Given the description of an element on the screen output the (x, y) to click on. 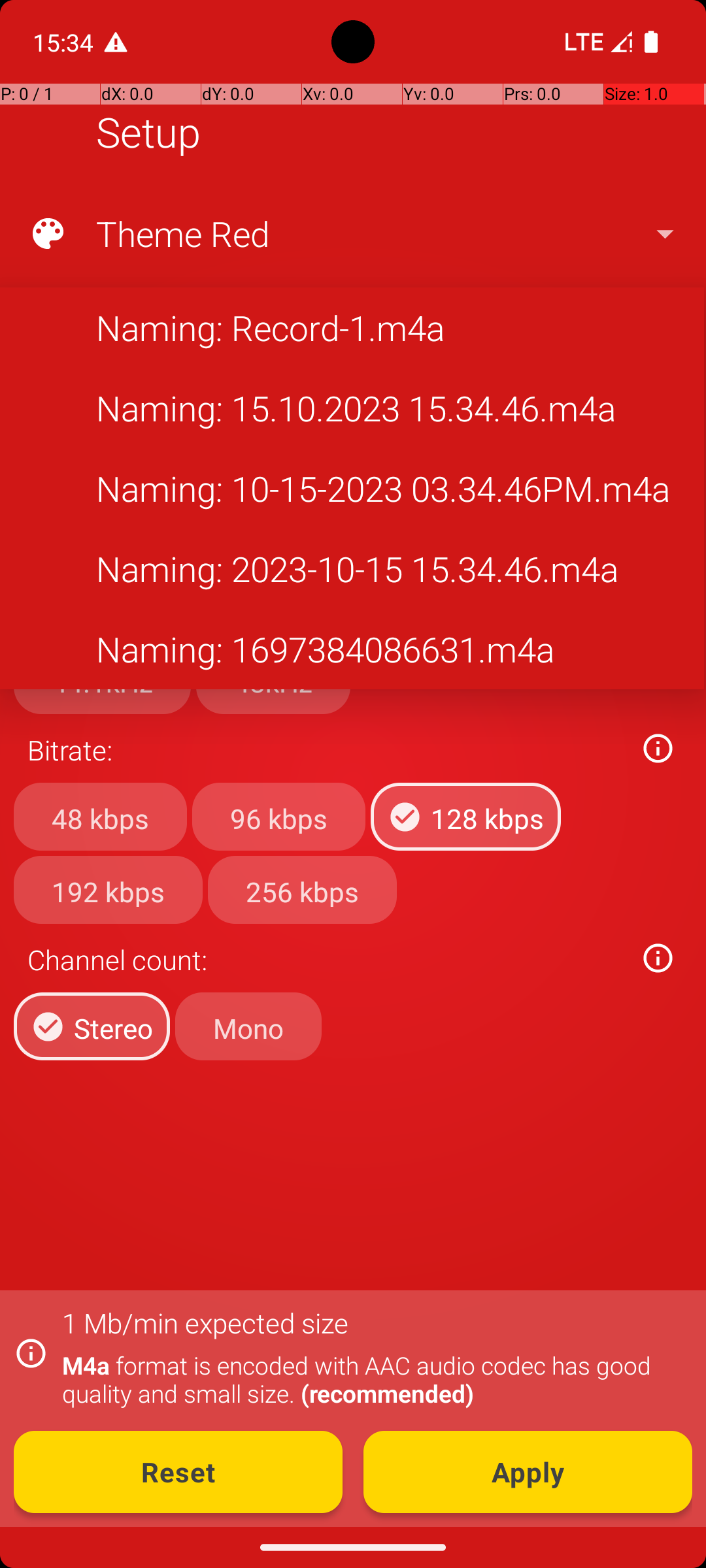
Naming: Record-1.m4a Element type: android.widget.TextView (352, 327)
Naming: 15.10.2023 15.34.46.m4a Element type: android.widget.TextView (352, 407)
Naming: 10-15-2023 03.34.46PM.m4a Element type: android.widget.TextView (352, 488)
Naming: 2023-10-15 15.34.46.m4a Element type: android.widget.TextView (352, 568)
Naming: 1697384086631.m4a Element type: android.widget.TextView (352, 648)
Android System notification: Data warning Element type: android.widget.ImageView (115, 41)
Phone one bar. Element type: android.widget.FrameLayout (595, 41)
